Given the description of an element on the screen output the (x, y) to click on. 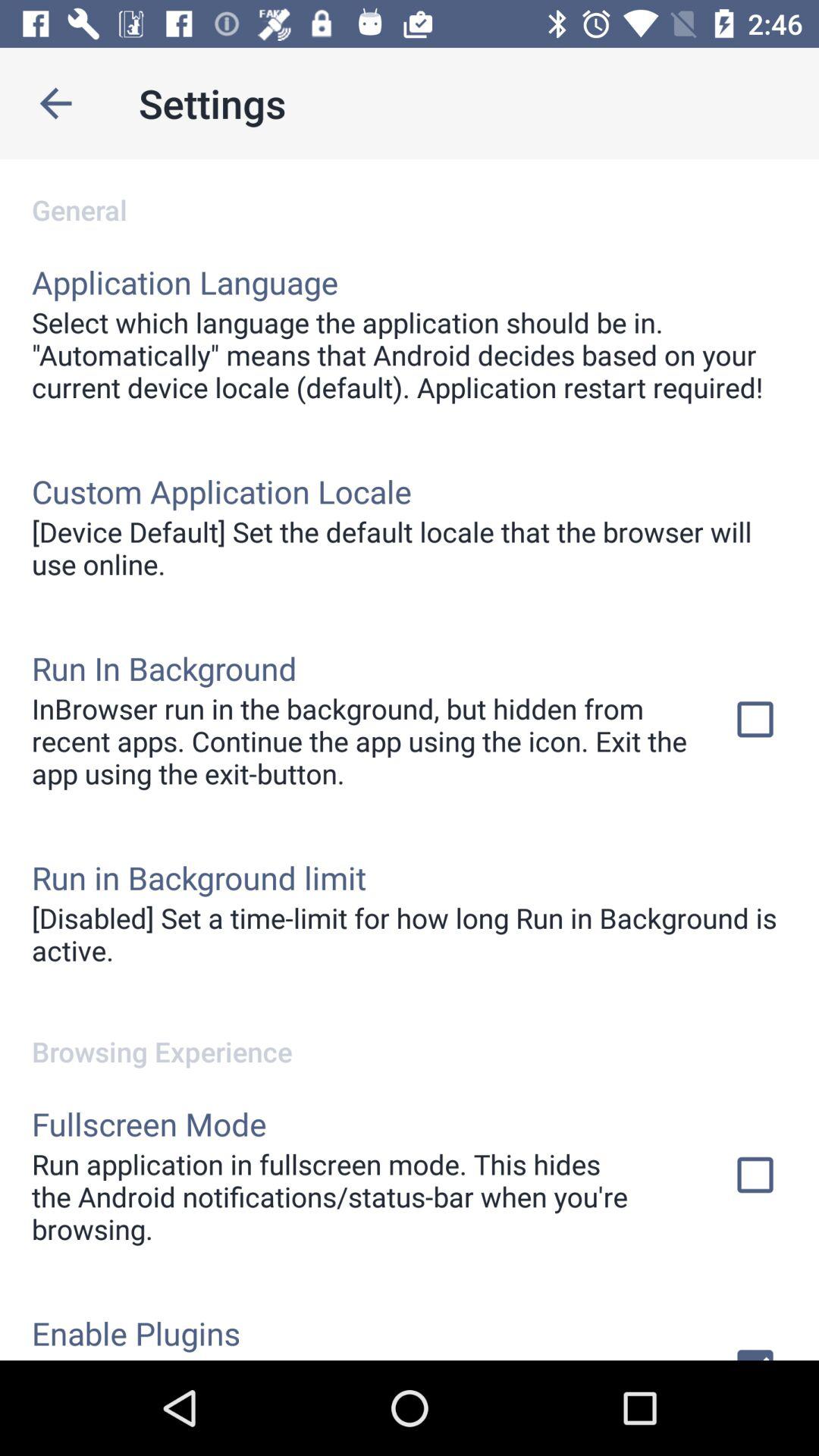
click the disabled set a app (409, 934)
